Given the description of an element on the screen output the (x, y) to click on. 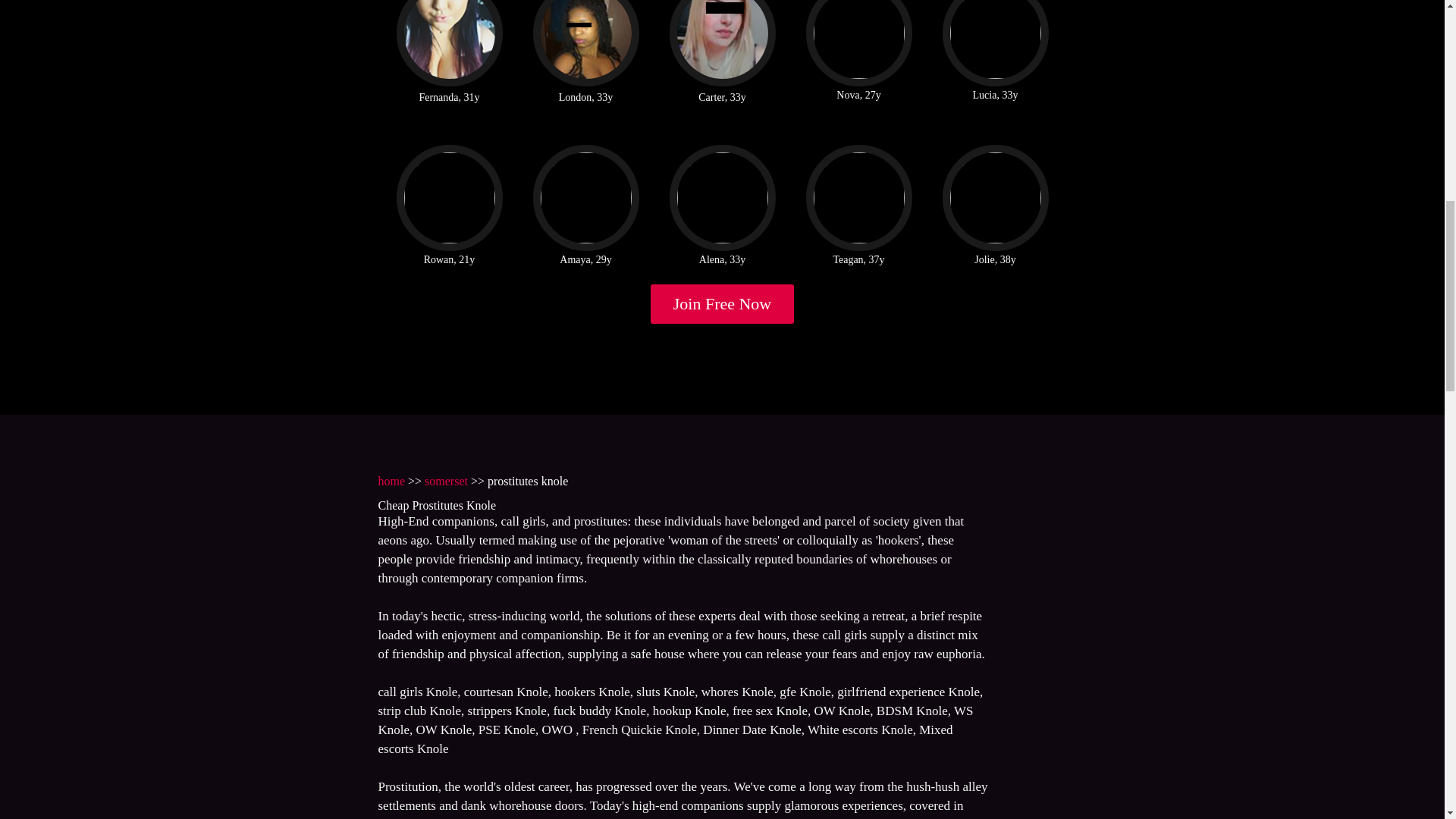
home (390, 481)
somerset (446, 481)
Join Free Now (722, 303)
Join (722, 303)
